Given the description of an element on the screen output the (x, y) to click on. 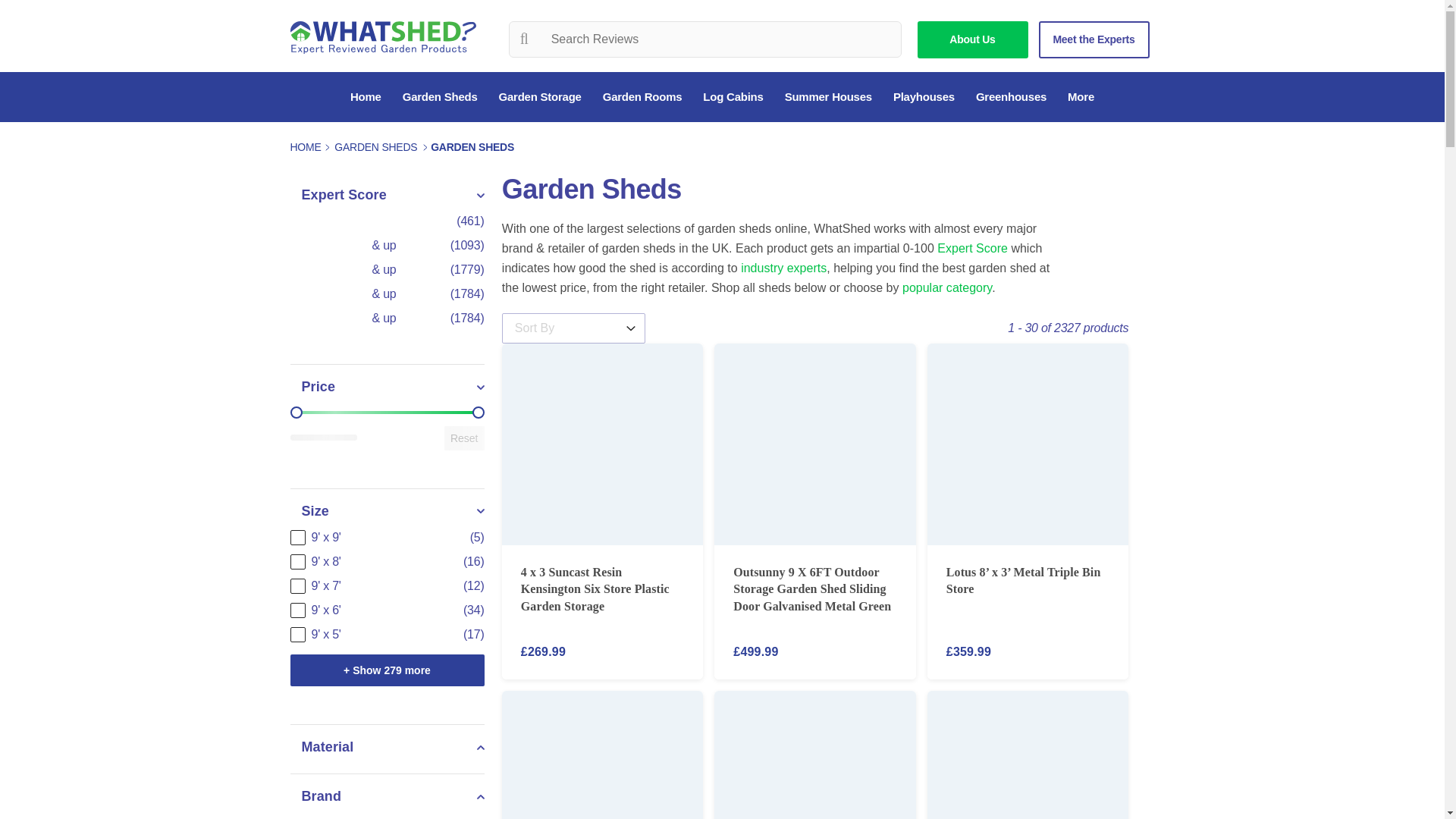
Meet the Experts (1094, 39)
About Us (972, 39)
Search for: (705, 39)
What Shed (382, 37)
Home (365, 97)
Garden Sheds (439, 97)
